Given the description of an element on the screen output the (x, y) to click on. 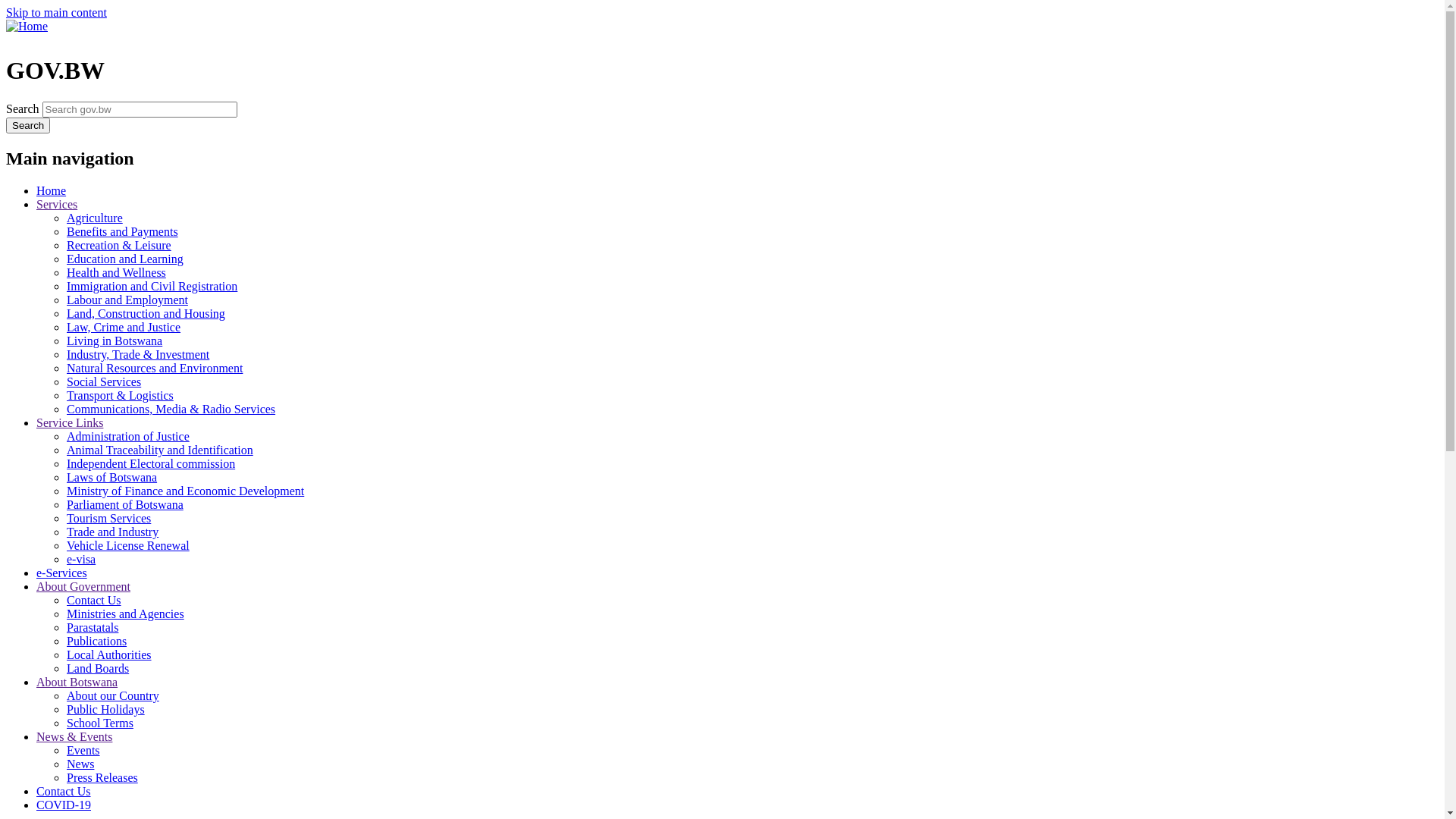
Recreation & Leisure Element type: text (118, 244)
Parastatals Element type: text (92, 627)
About Government Element type: text (83, 586)
Laws of Botswana Element type: text (111, 476)
Contact Us Element type: text (93, 599)
Service Links Element type: text (69, 422)
Search Element type: text (28, 125)
COVID-19 Element type: text (63, 804)
Skip to main content Element type: text (56, 12)
Immigration and Civil Registration Element type: text (151, 285)
e-visa Element type: text (80, 558)
Education and Learning Element type: text (124, 258)
Administration of Justice Element type: text (127, 435)
Health and Wellness Element type: text (116, 272)
About our Country Element type: text (112, 695)
Ministries and Agencies Element type: text (125, 613)
Animal Traceability and Identification Element type: text (159, 449)
Transport & Logistics Element type: text (119, 395)
Home Element type: text (50, 190)
Events Element type: text (83, 749)
Contact Us Element type: text (63, 790)
Communications, Media & Radio Services Element type: text (170, 408)
About Botswana Element type: text (76, 681)
Land Boards Element type: text (97, 668)
Services Element type: text (56, 203)
News Element type: text (80, 763)
Parliament of Botswana Element type: text (124, 504)
Law, Crime and Justice Element type: text (123, 326)
Vehicle License Renewal Element type: text (127, 545)
Publications Element type: text (96, 640)
Industry, Trade & Investment Element type: text (137, 354)
School Terms Element type: text (99, 722)
Enter the terms you wish to search for. Element type: hover (139, 109)
Independent Electoral commission Element type: text (150, 463)
Agriculture Element type: text (94, 217)
e-Services Element type: text (61, 572)
News & Events Element type: text (74, 736)
Benefits and Payments Element type: text (122, 231)
Local Authorities Element type: text (108, 654)
Labour and Employment Element type: text (127, 299)
Land, Construction and Housing Element type: text (145, 313)
Ministry of Finance and Economic Development Element type: text (185, 490)
Tourism Services Element type: text (108, 517)
Living in Botswana Element type: text (114, 340)
Press Releases Element type: text (102, 777)
Natural Resources and Environment Element type: text (154, 367)
Public Holidays Element type: text (105, 708)
Home Element type: hover (26, 25)
Trade and Industry Element type: text (112, 531)
Social Services Element type: text (103, 381)
